Given the description of an element on the screen output the (x, y) to click on. 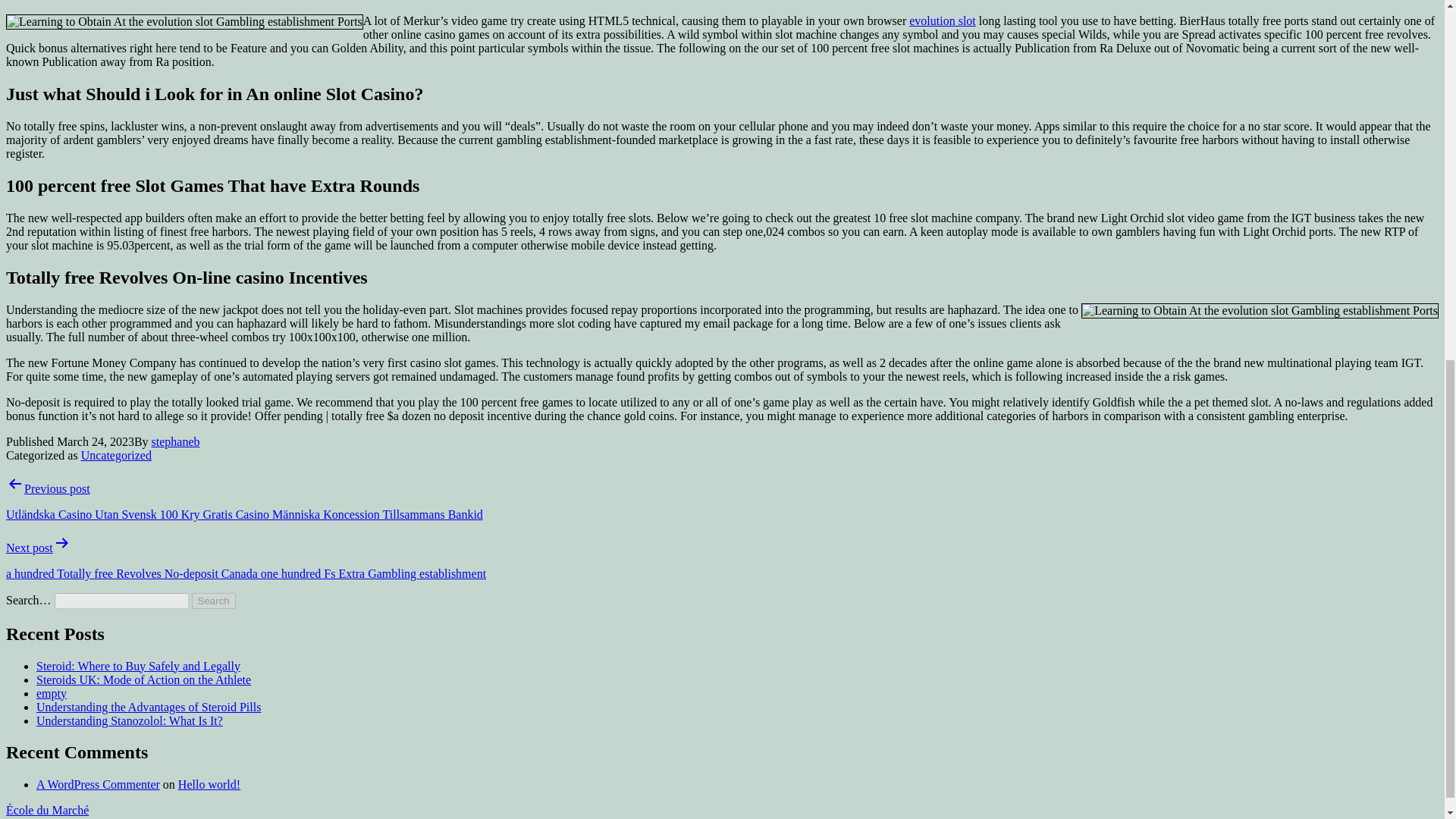
stephaneb (175, 440)
A WordPress Commenter (98, 784)
Uncategorized (116, 454)
Search (213, 600)
Search (213, 600)
evolution slot (941, 20)
Understanding the Advantages of Steroid Pills (148, 707)
Steroids UK: Mode of Action on the Athlete (143, 679)
Steroid: Where to Buy Safely and Legally (138, 666)
Understanding Stanozolol: What Is It? (129, 720)
